Given the description of an element on the screen output the (x, y) to click on. 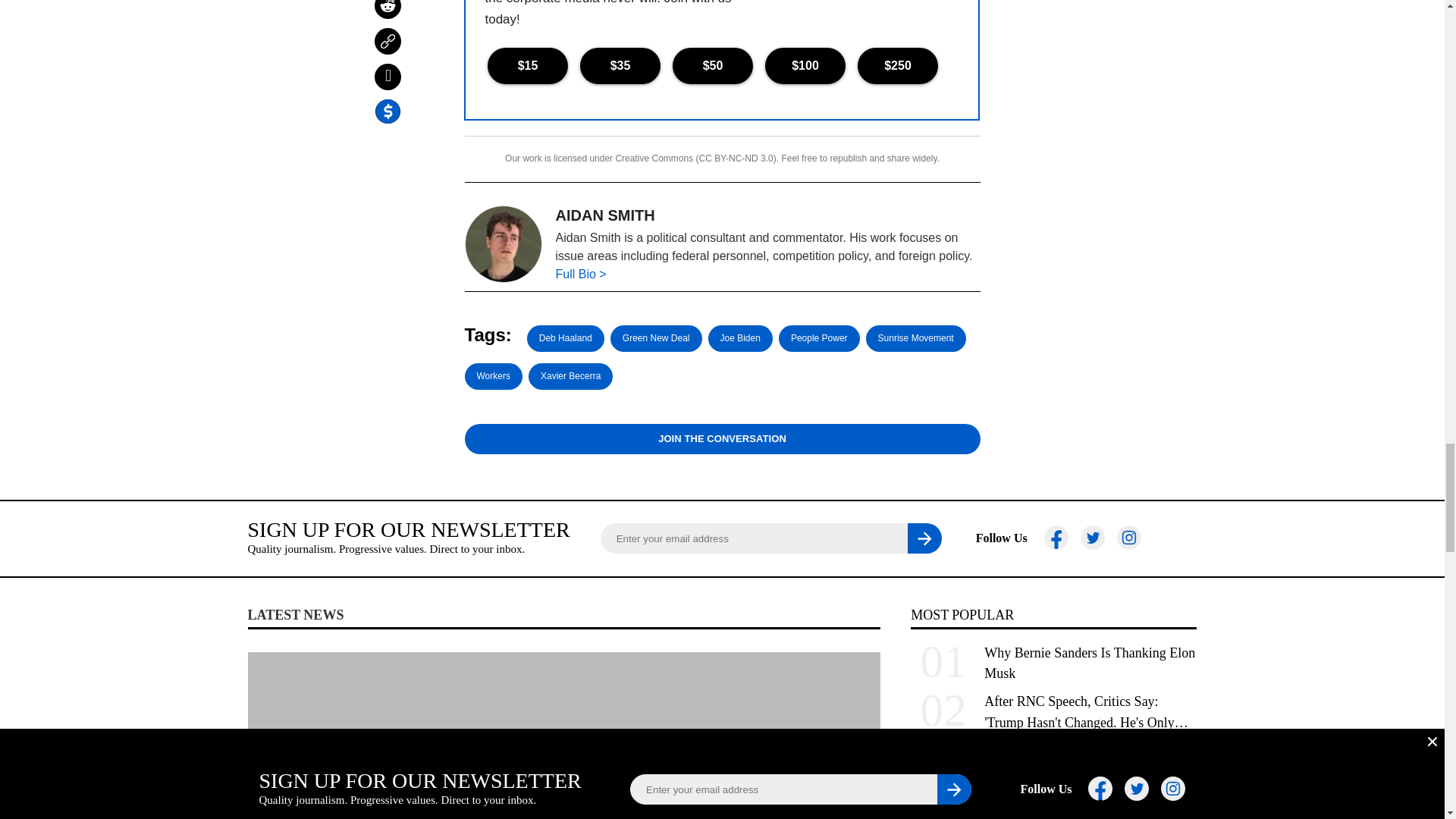
Recent Donations (852, 6)
Donate Button Group (721, 65)
